Given the description of an element on the screen output the (x, y) to click on. 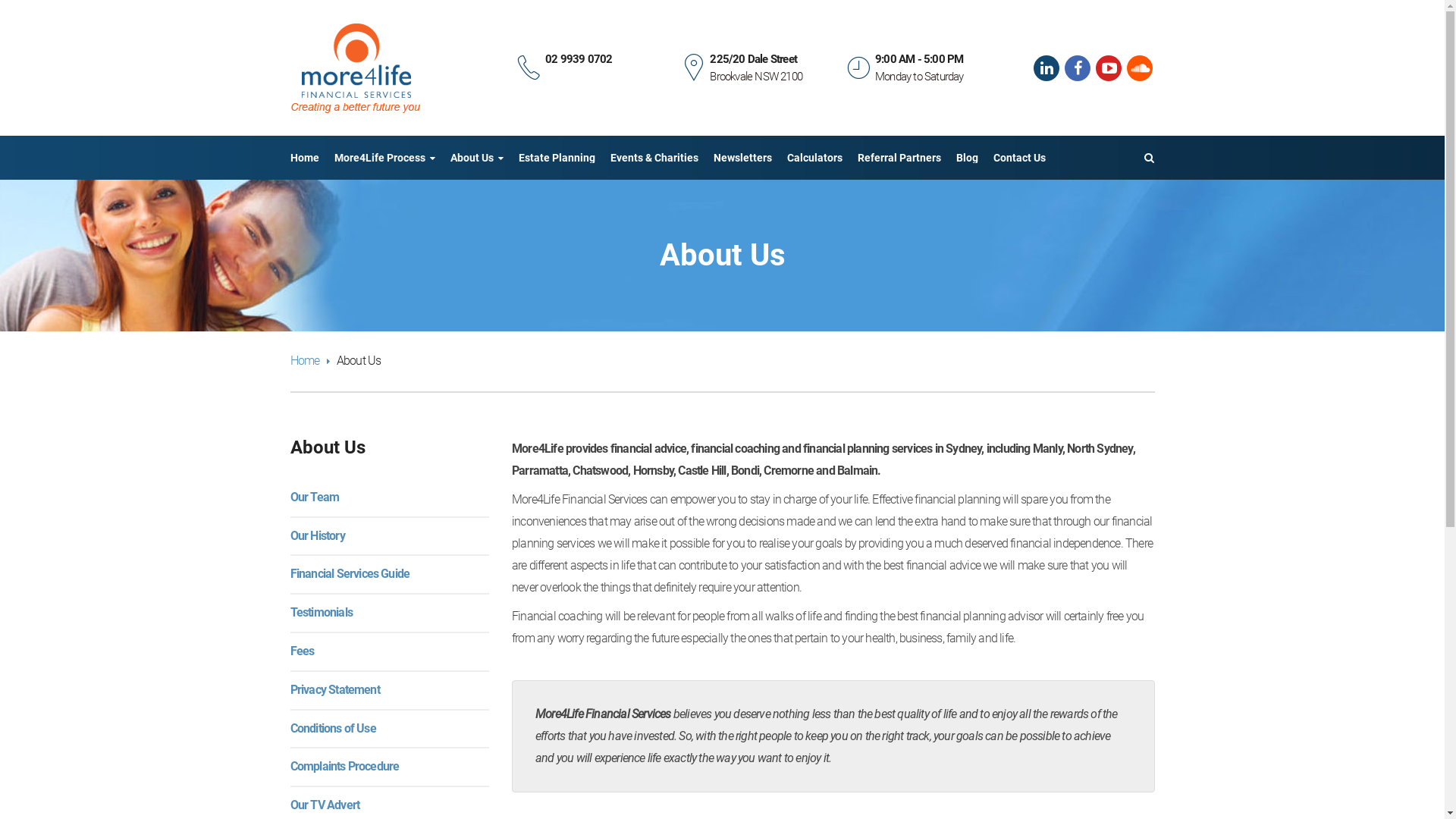
Conditions of Use Element type: text (332, 728)
Home Element type: text (303, 157)
Blog Element type: text (966, 157)
Financial Services Guide Element type: text (349, 573)
Newsletters Element type: text (741, 157)
Contact Us Element type: text (1019, 157)
Estate Planning Element type: text (556, 157)
Our History Element type: text (316, 535)
Events & Charities Element type: text (653, 157)
Privacy Statement Element type: text (334, 689)
Referral Partners Element type: text (898, 157)
More4Life Process Element type: text (383, 157)
Home Element type: text (309, 360)
Fees Element type: text (301, 650)
Testimonials Element type: text (320, 612)
Our TV Advert Element type: text (324, 804)
02 9939 0702 Element type: text (578, 59)
About Us Element type: text (476, 157)
Our Team Element type: text (313, 496)
Calculators Element type: text (814, 157)
Complaints Procedure Element type: text (343, 766)
